Given the description of an element on the screen output the (x, y) to click on. 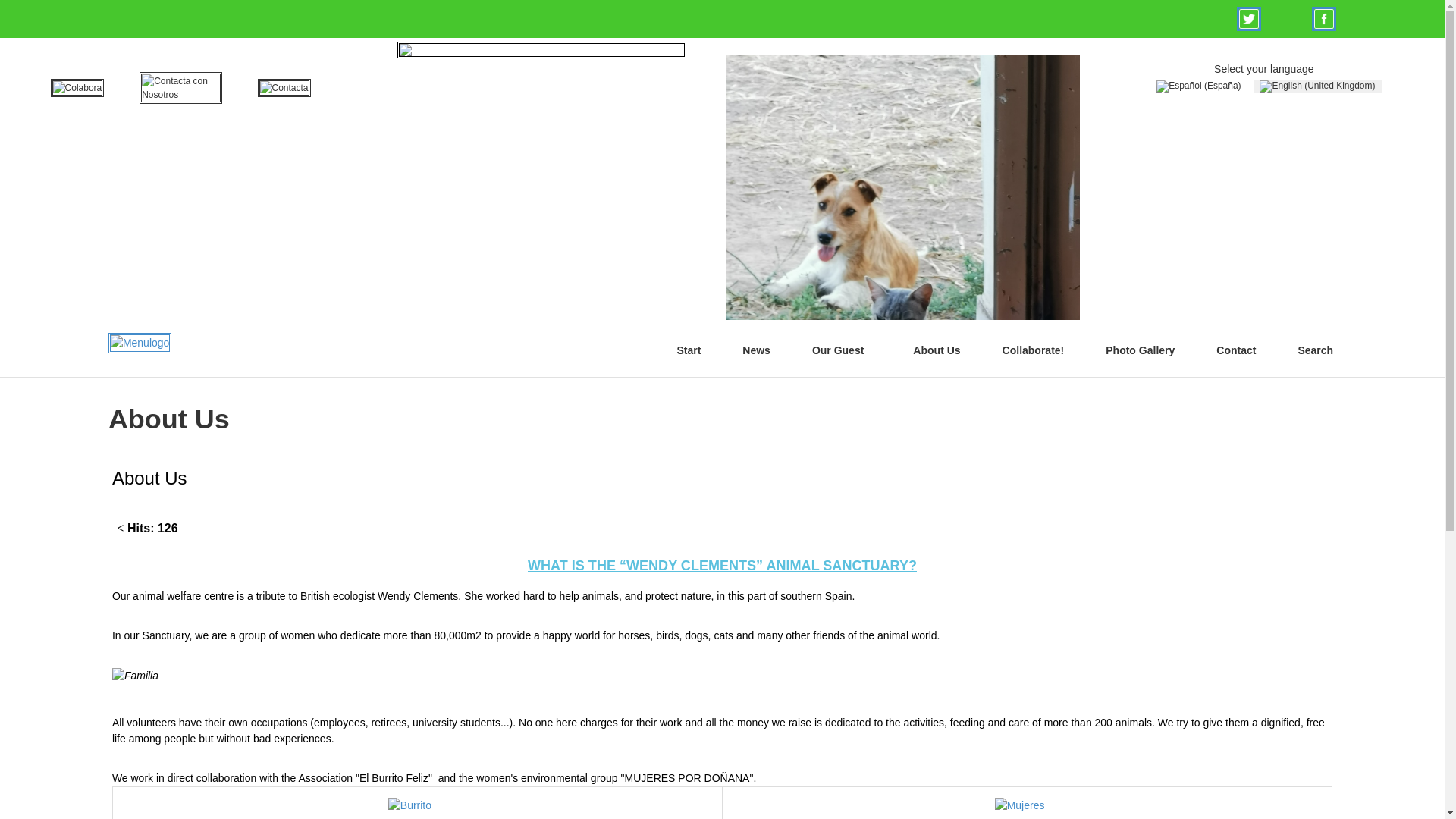
About Us (936, 349)
Photo Gallery (1139, 349)
Our Guest (842, 349)
About Us (149, 477)
Collaborate! (1032, 349)
